Given the description of an element on the screen output the (x, y) to click on. 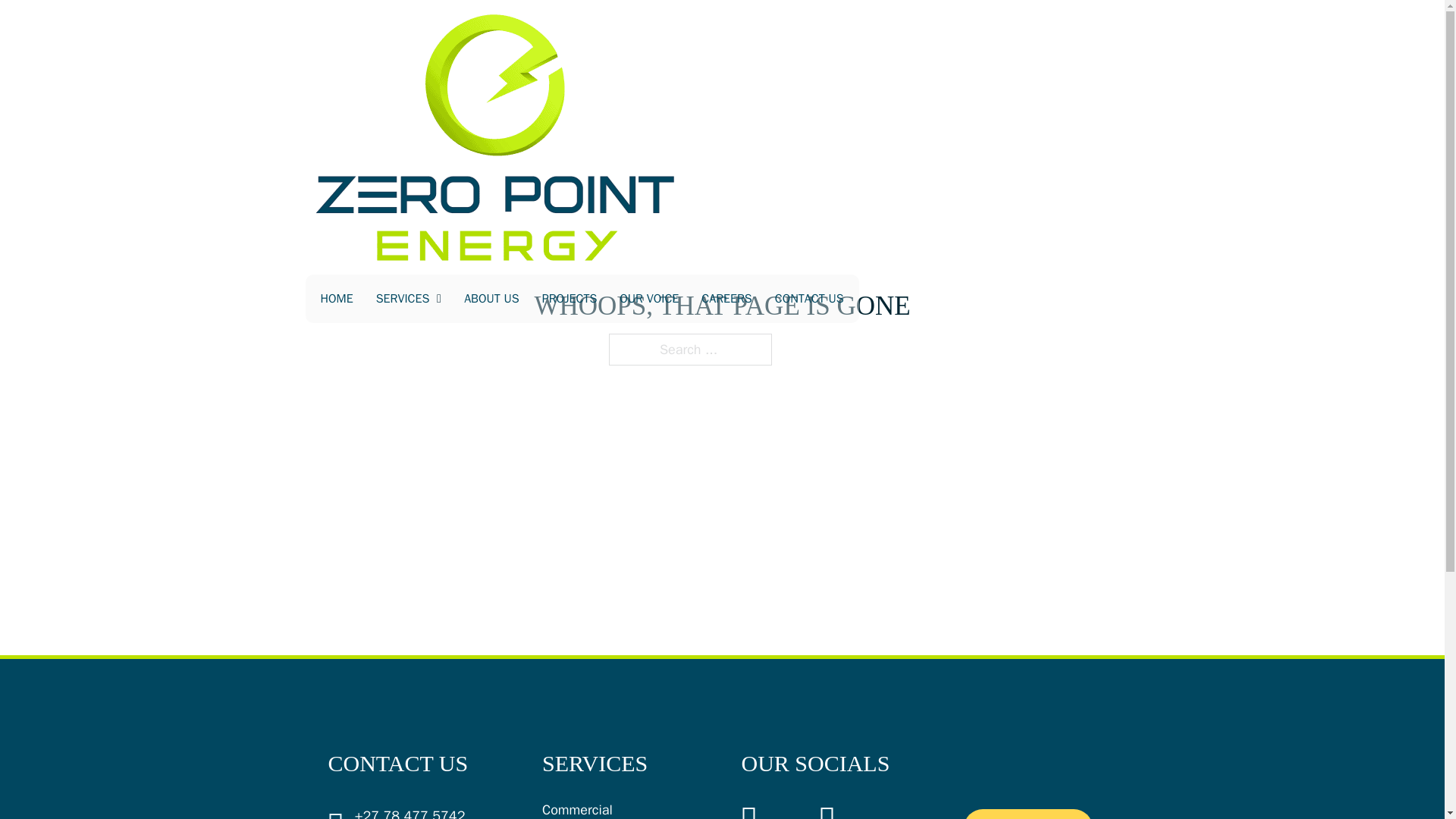
CAREERS (726, 298)
ABOUT US (491, 298)
CONTACT US (1028, 814)
PROJECTS (568, 298)
OUR VOICE (649, 298)
CONTACT US (809, 298)
SERVICES (402, 298)
Commercial (576, 809)
HOME (336, 298)
